Given the description of an element on the screen output the (x, y) to click on. 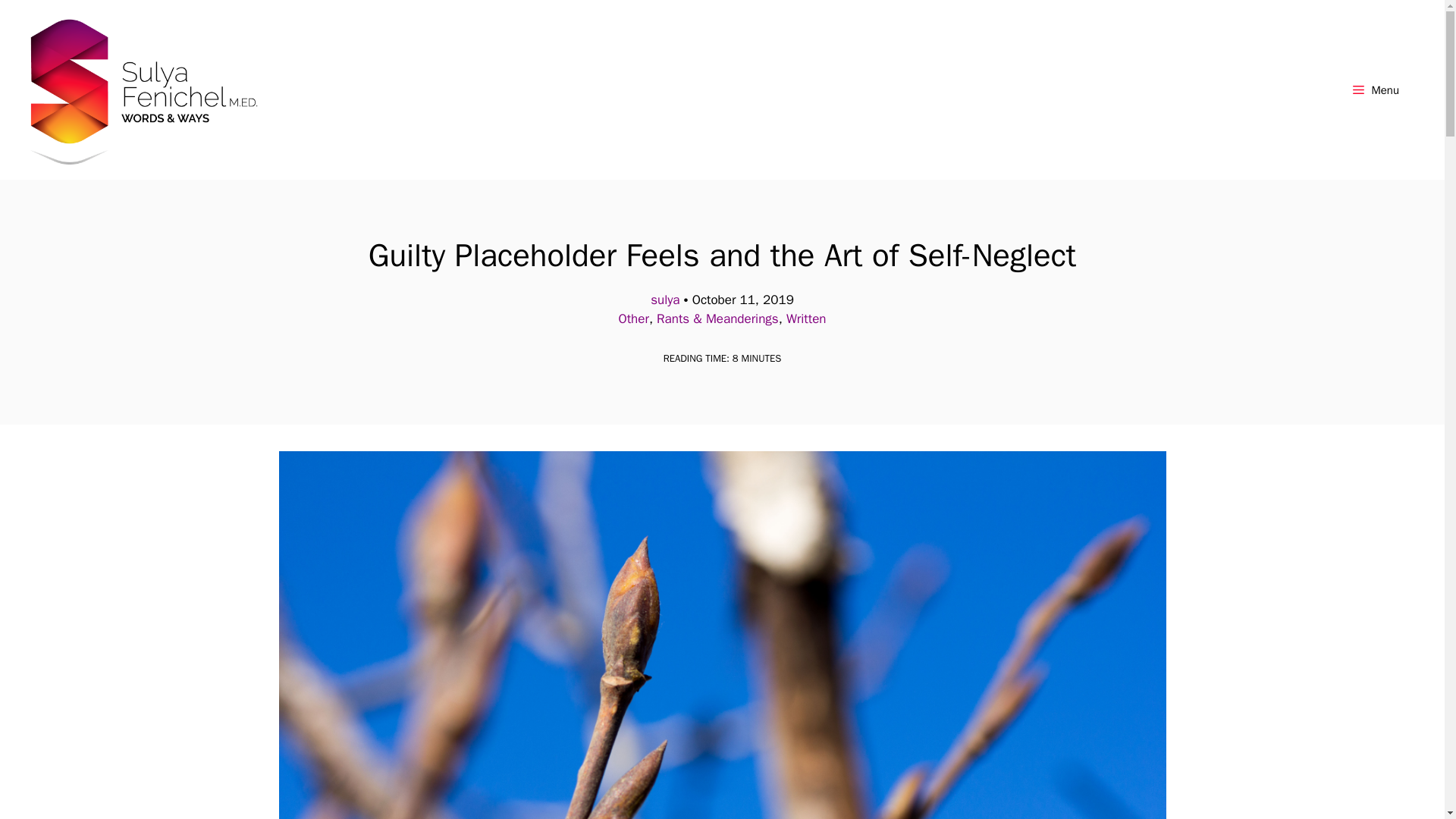
View all posts by sulya (664, 299)
Menu (1375, 90)
Other (632, 318)
sulya (664, 299)
Written (806, 318)
